Given the description of an element on the screen output the (x, y) to click on. 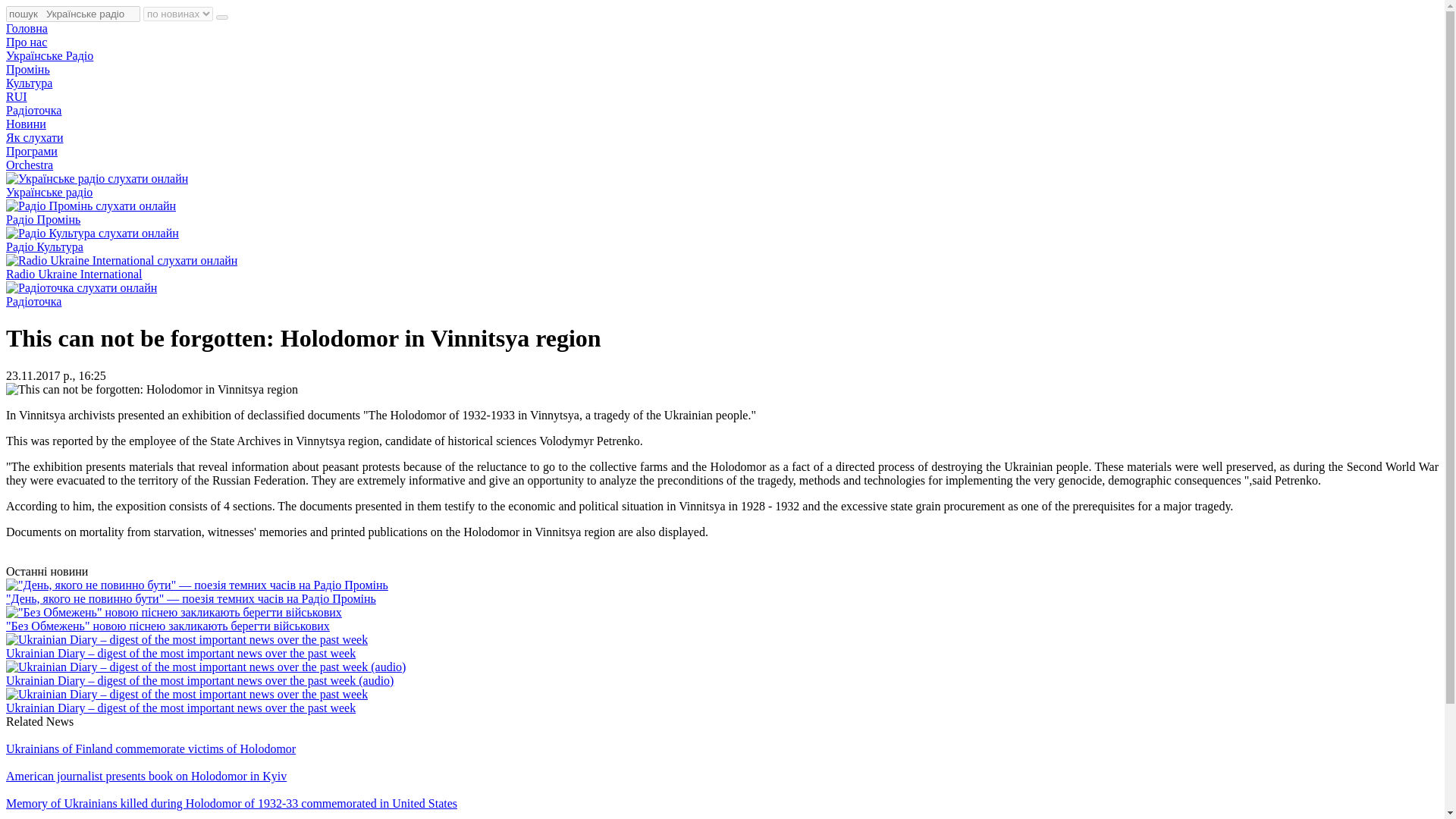
RUI (16, 96)
Orchestra (28, 164)
